Given the description of an element on the screen output the (x, y) to click on. 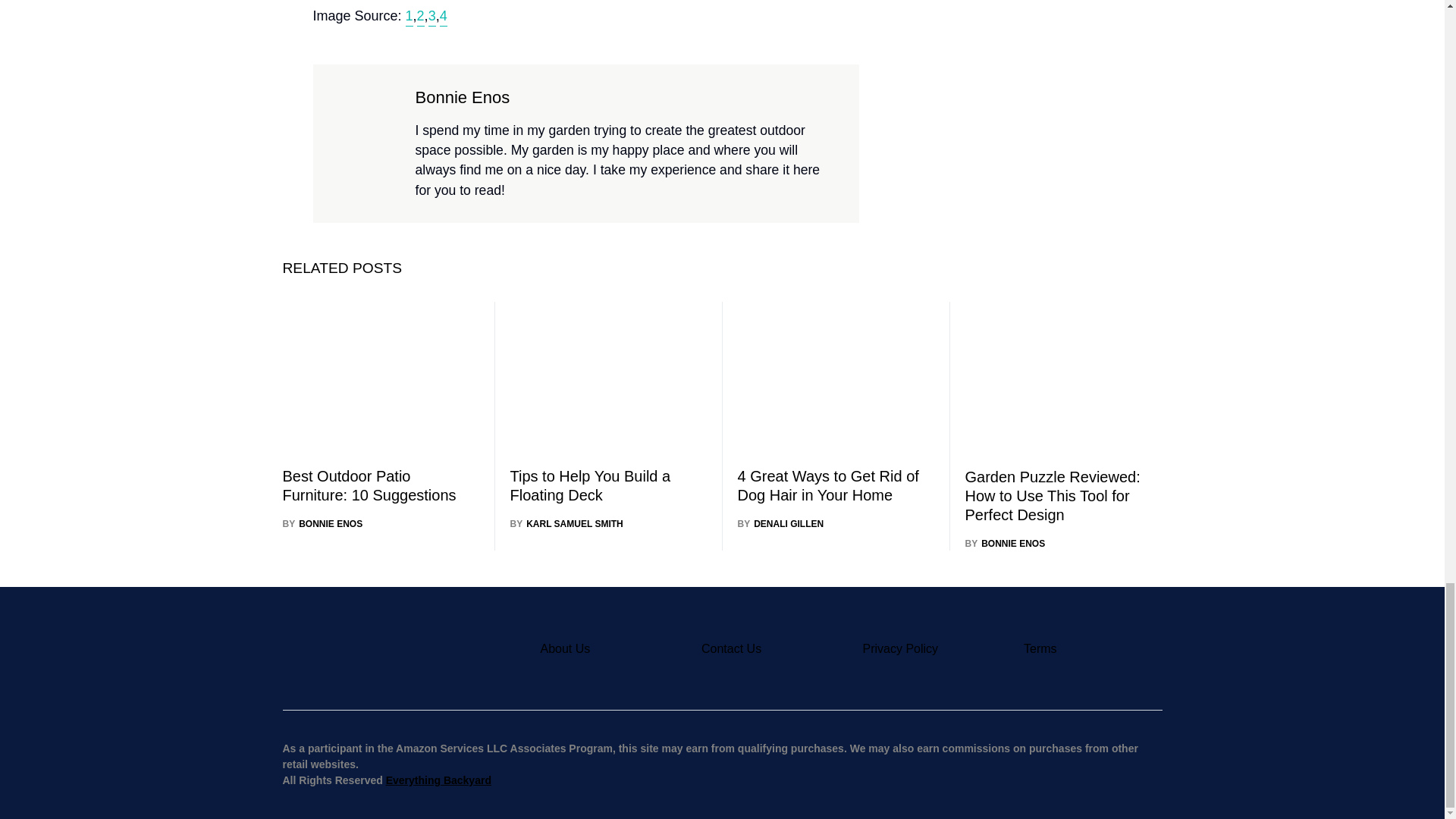
View all posts by Bonnie Enos (322, 523)
View all posts by Karl Samuel Smith (566, 523)
View all posts by Denali Gillen (780, 523)
View all posts by Bonnie Enos (1004, 543)
